Given the description of an element on the screen output the (x, y) to click on. 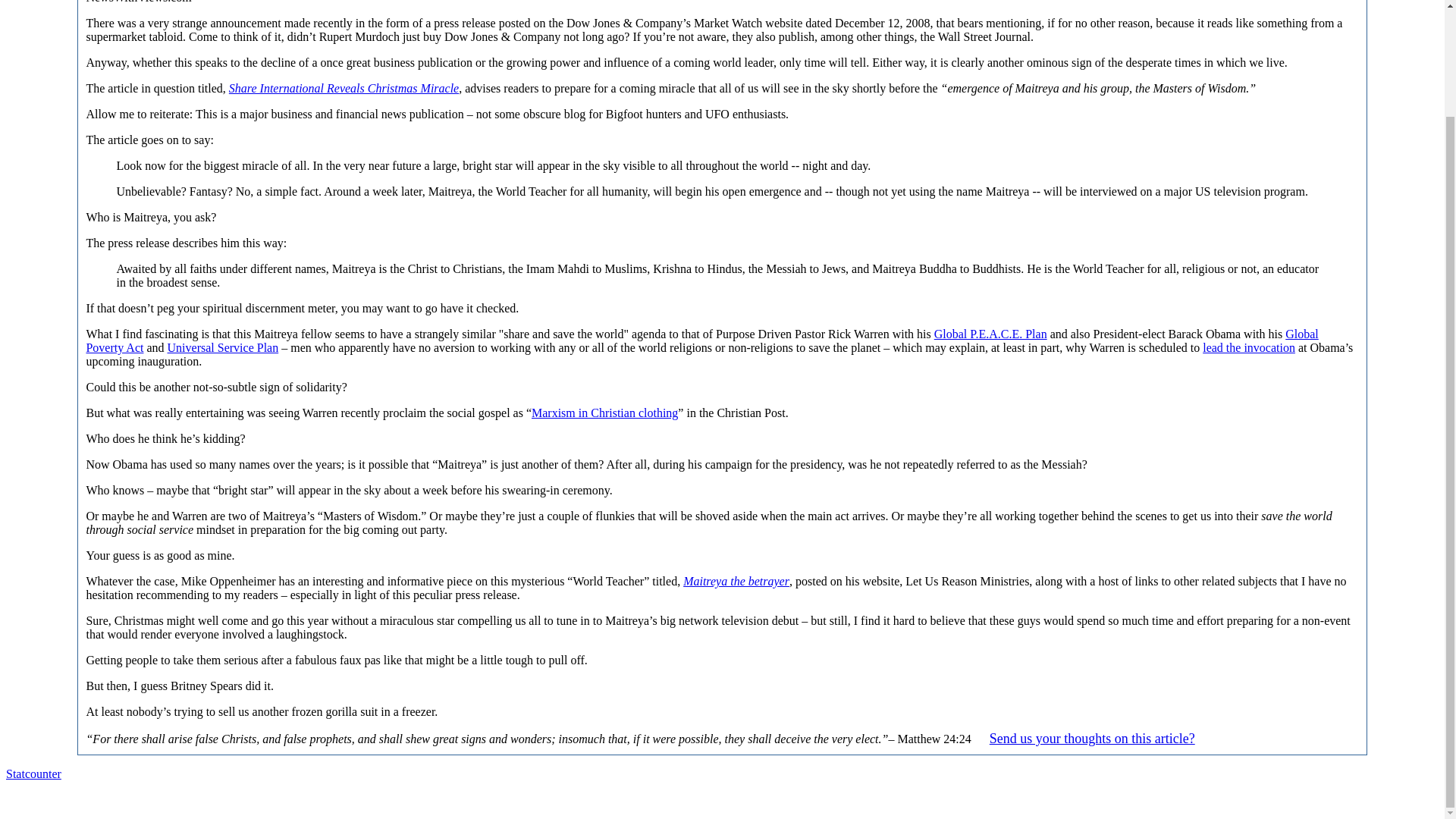
lead the invocation (1248, 347)
Global Poverty Act (701, 340)
Maitreya the betrayer (735, 581)
Share International Reveals Christmas Miracle (343, 88)
Statcounter (33, 773)
Global P.E.A.C.E. Plan (990, 333)
Marxism in Christian clothing (604, 412)
Send us your thoughts on this article? (1092, 738)
Universal Service Plan (223, 347)
